Given the description of an element on the screen output the (x, y) to click on. 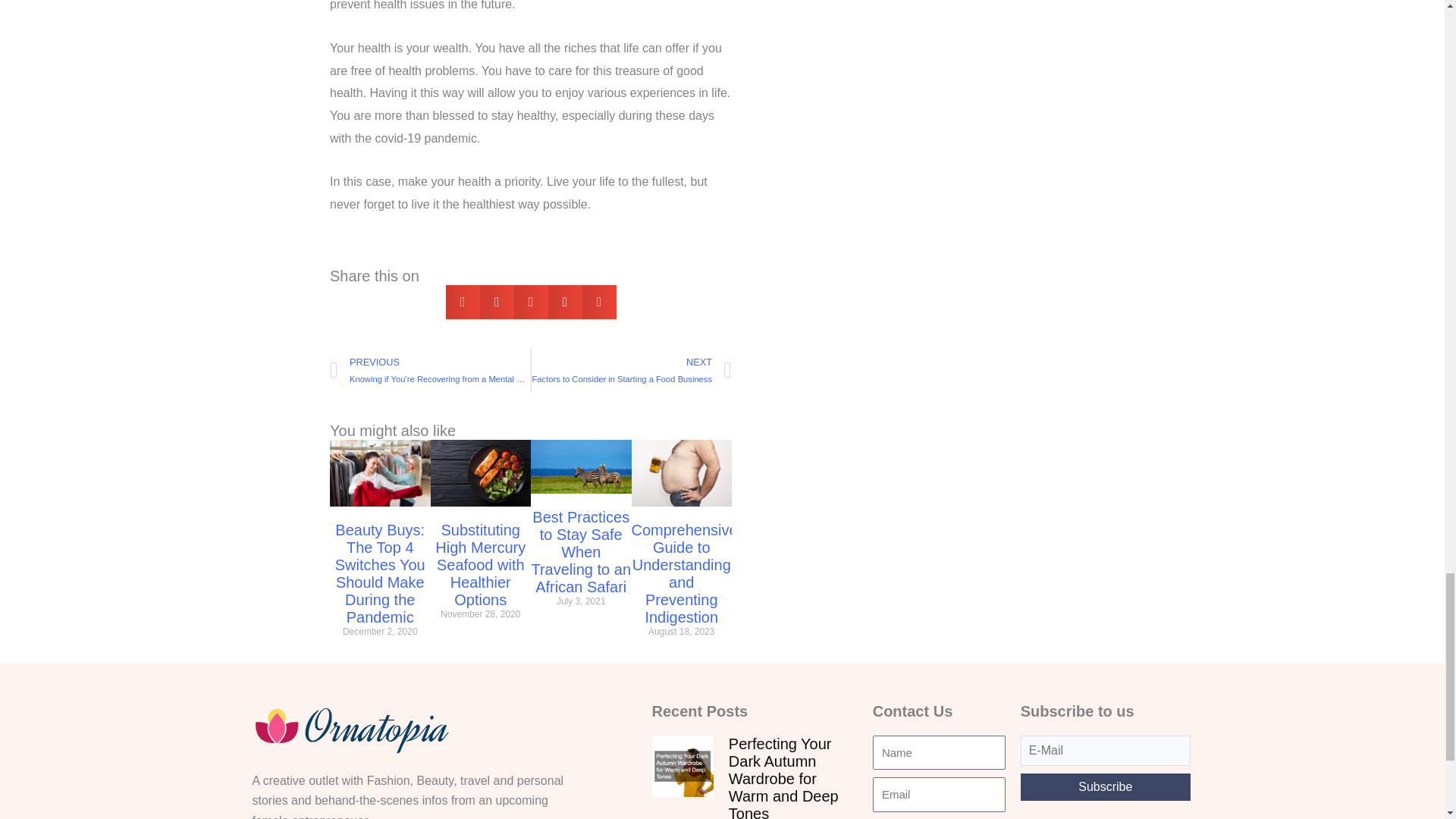
Substituting High Mercury Seafood with Healthier Options (480, 564)
